Given the description of an element on the screen output the (x, y) to click on. 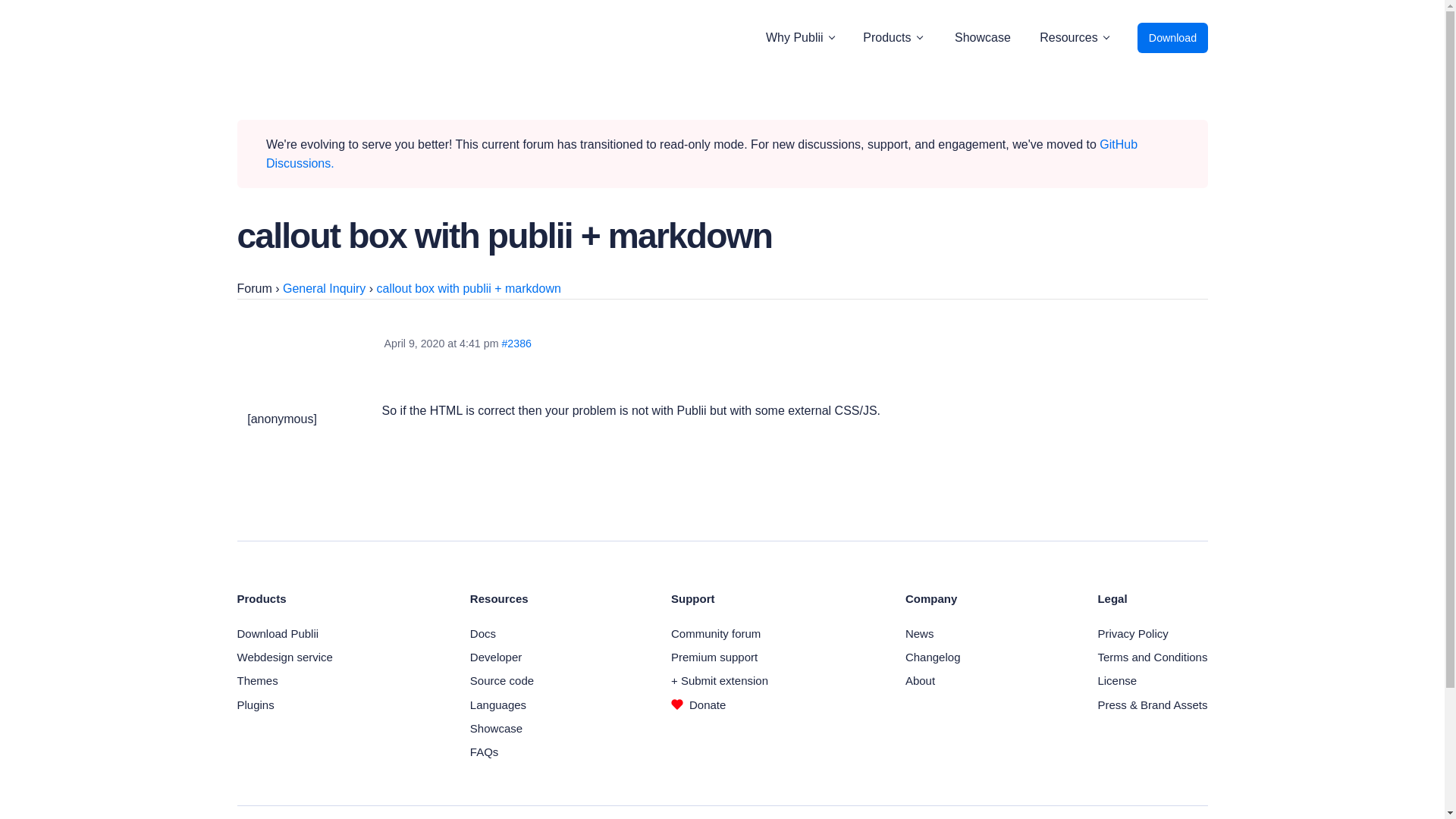
Languages (497, 704)
Privacy Policy (1132, 633)
General Inquiry (323, 287)
Webdesign service (283, 656)
Source code (502, 680)
Plugins (254, 704)
Themes (256, 680)
Terms and Conditions (1152, 656)
Download Publii (276, 633)
GitHub Discussions. (701, 154)
Community forum (715, 633)
Donate (698, 704)
Developer (495, 656)
Showcase (496, 727)
Changelog (932, 656)
